Given the description of an element on the screen output the (x, y) to click on. 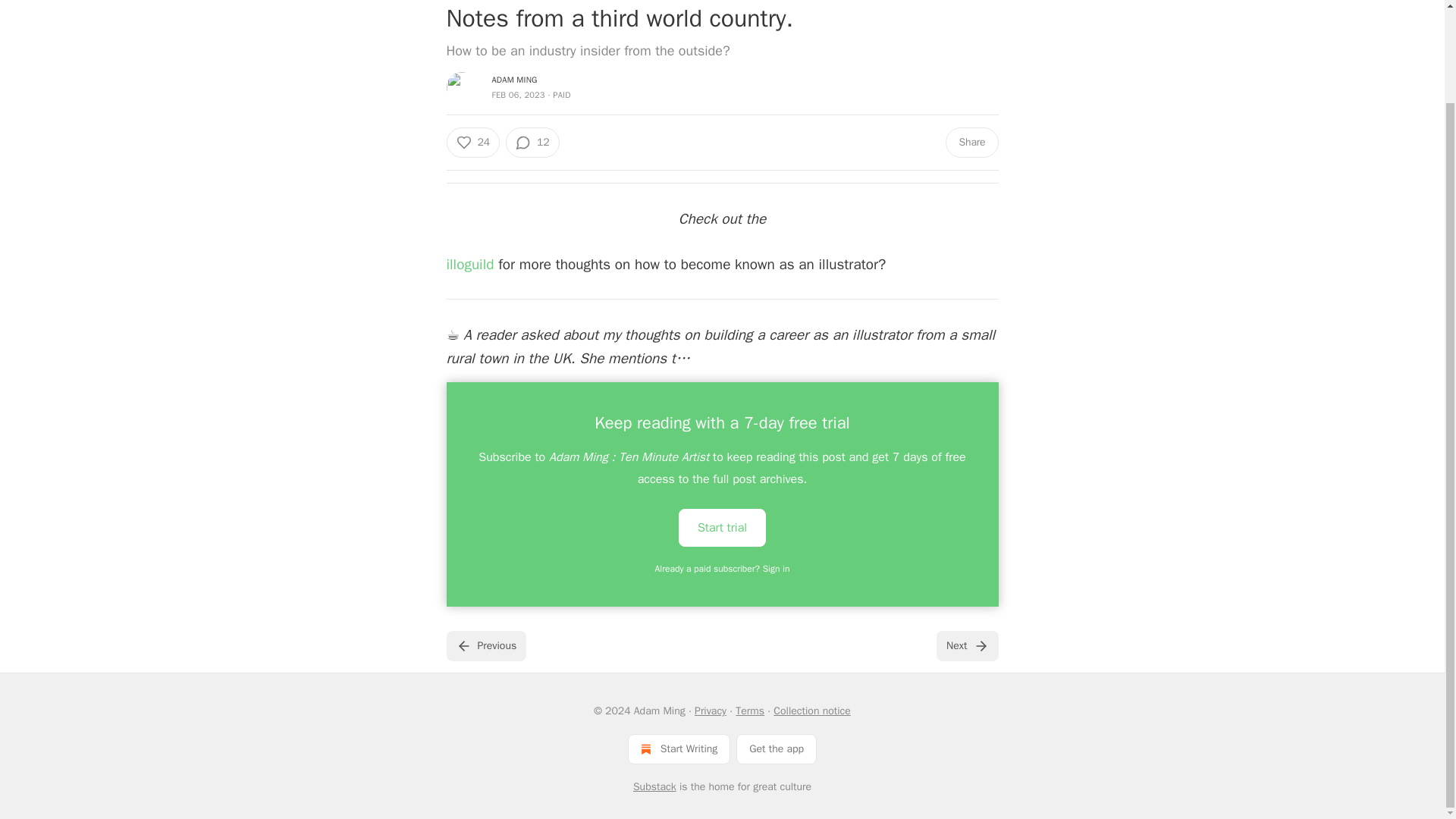
Next (966, 645)
12 (532, 142)
Start trial (721, 527)
Start trial (721, 526)
Get the app (776, 748)
Terms (749, 710)
Collection notice (811, 710)
Already a paid subscriber? Sign in (722, 568)
Share (970, 142)
ADAM MING (514, 79)
illoguild (470, 264)
Previous (485, 645)
24 (472, 142)
Privacy (710, 710)
Substack (655, 786)
